Given the description of an element on the screen output the (x, y) to click on. 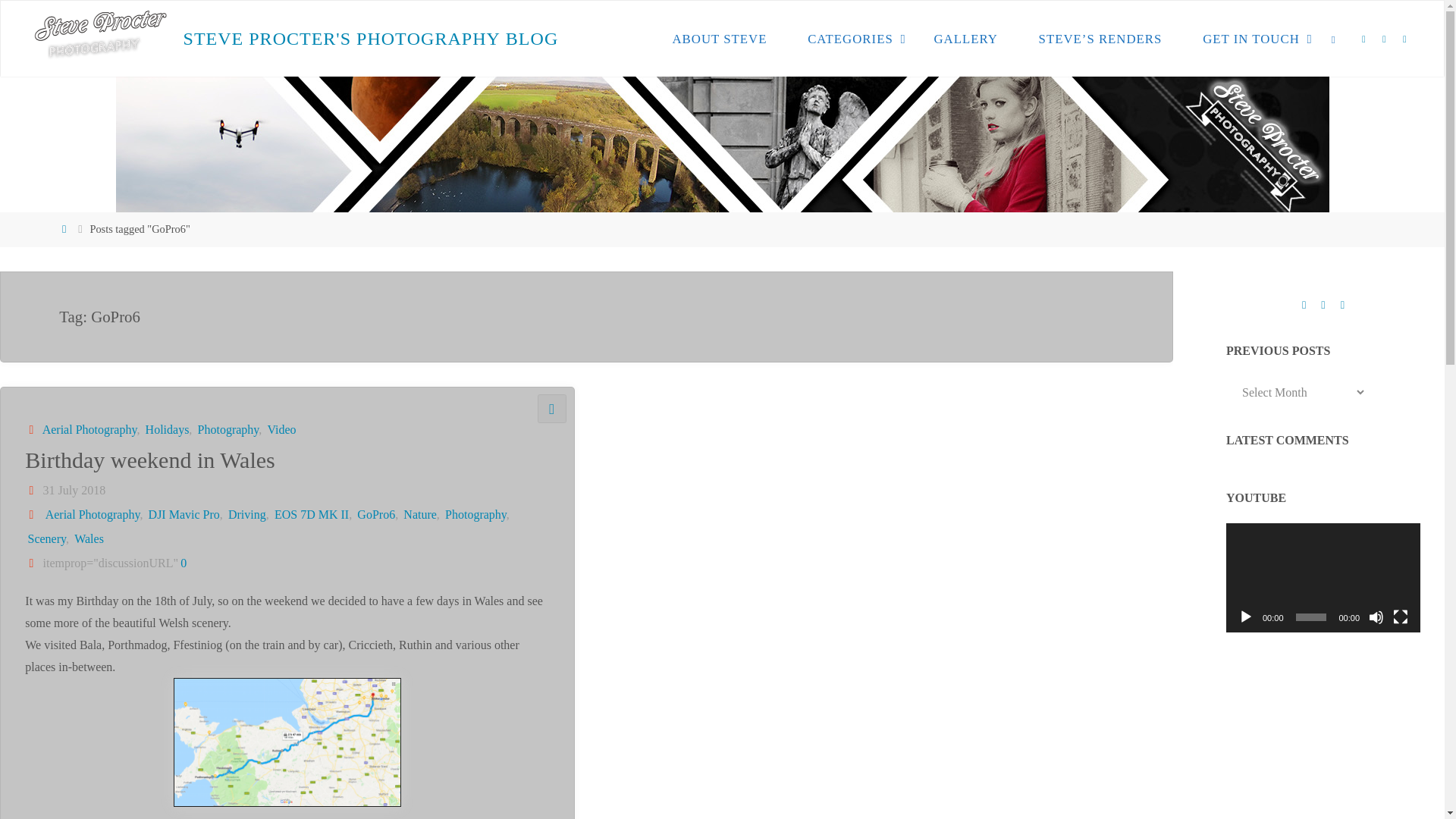
Steve Procter's Photography Blog (99, 38)
Date (31, 490)
CATEGORIES (849, 38)
STEVE PROCTER'S PHOTOGRAPHY BLOG (371, 38)
ABOUT STEVE (719, 38)
Gallery (551, 408)
Tagged (31, 513)
Categories (31, 429)
